Given the description of an element on the screen output the (x, y) to click on. 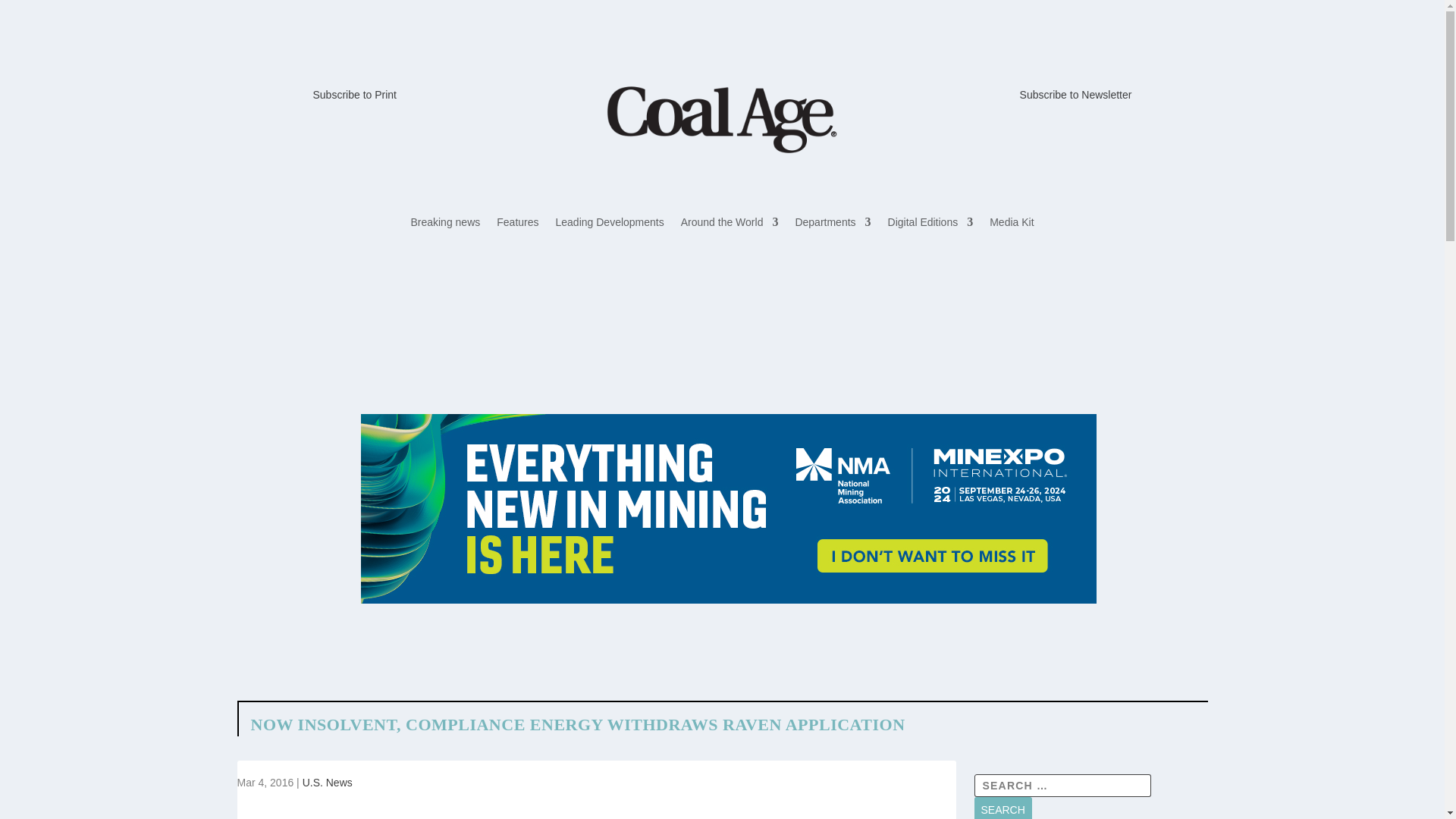
Coal Age logo (721, 119)
Media Kit (1011, 225)
Subscribe to Newsletter (1076, 94)
Leading Developments (609, 225)
Subscribe to Print (354, 94)
Breaking news (445, 225)
Digital Editions (931, 225)
Around the World (729, 225)
U.S. News (327, 782)
Features (517, 225)
